Given the description of an element on the screen output the (x, y) to click on. 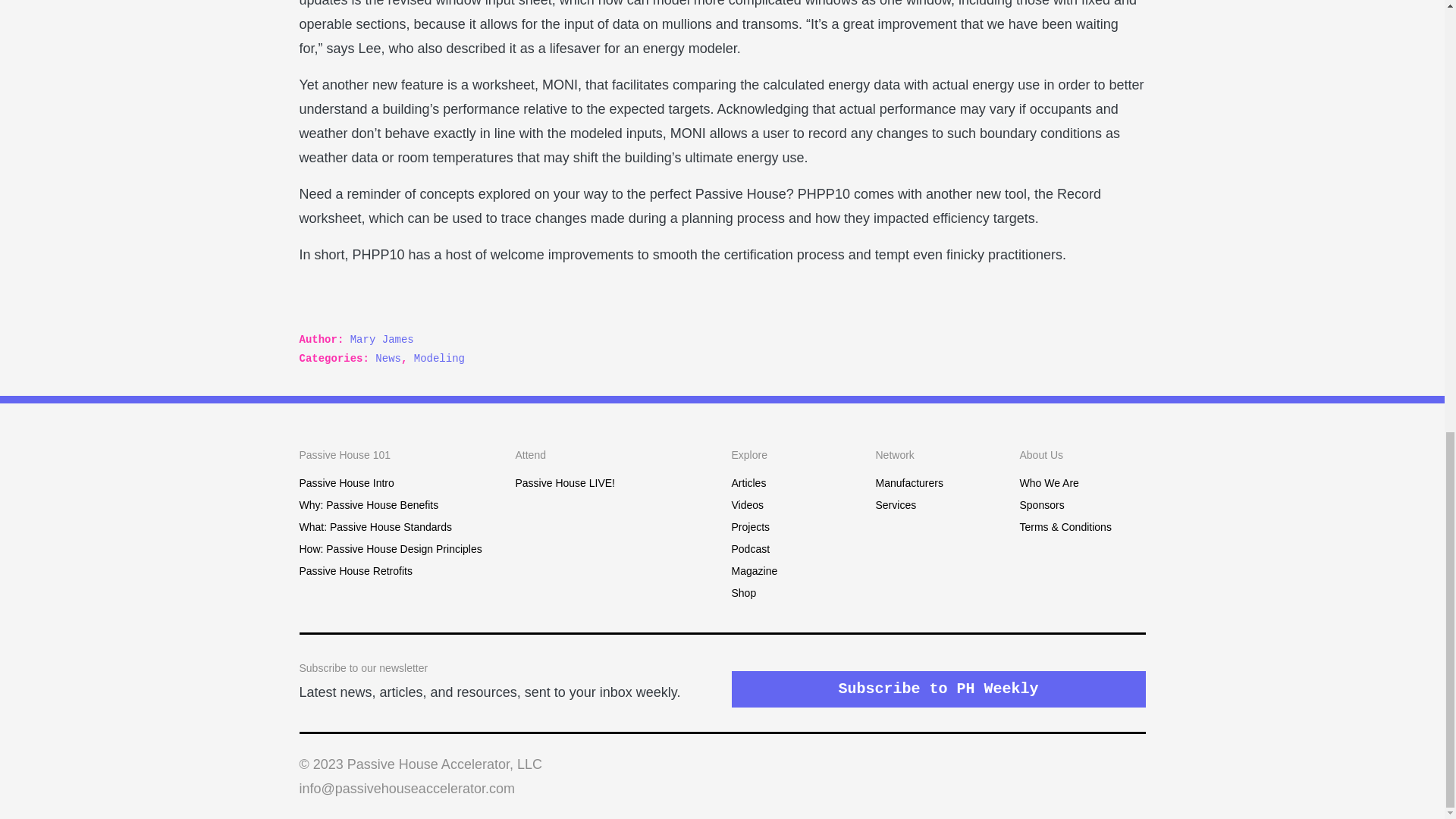
Passive House Retrofits (355, 571)
Mary James (381, 339)
Passive House LIVE! (565, 482)
News (388, 358)
How: Passive House Design Principles (389, 548)
Articles (747, 482)
Modeling (438, 358)
Passive House Intro (345, 482)
Why: Passive House Benefits (368, 504)
What: Passive House Standards (374, 526)
